Given the description of an element on the screen output the (x, y) to click on. 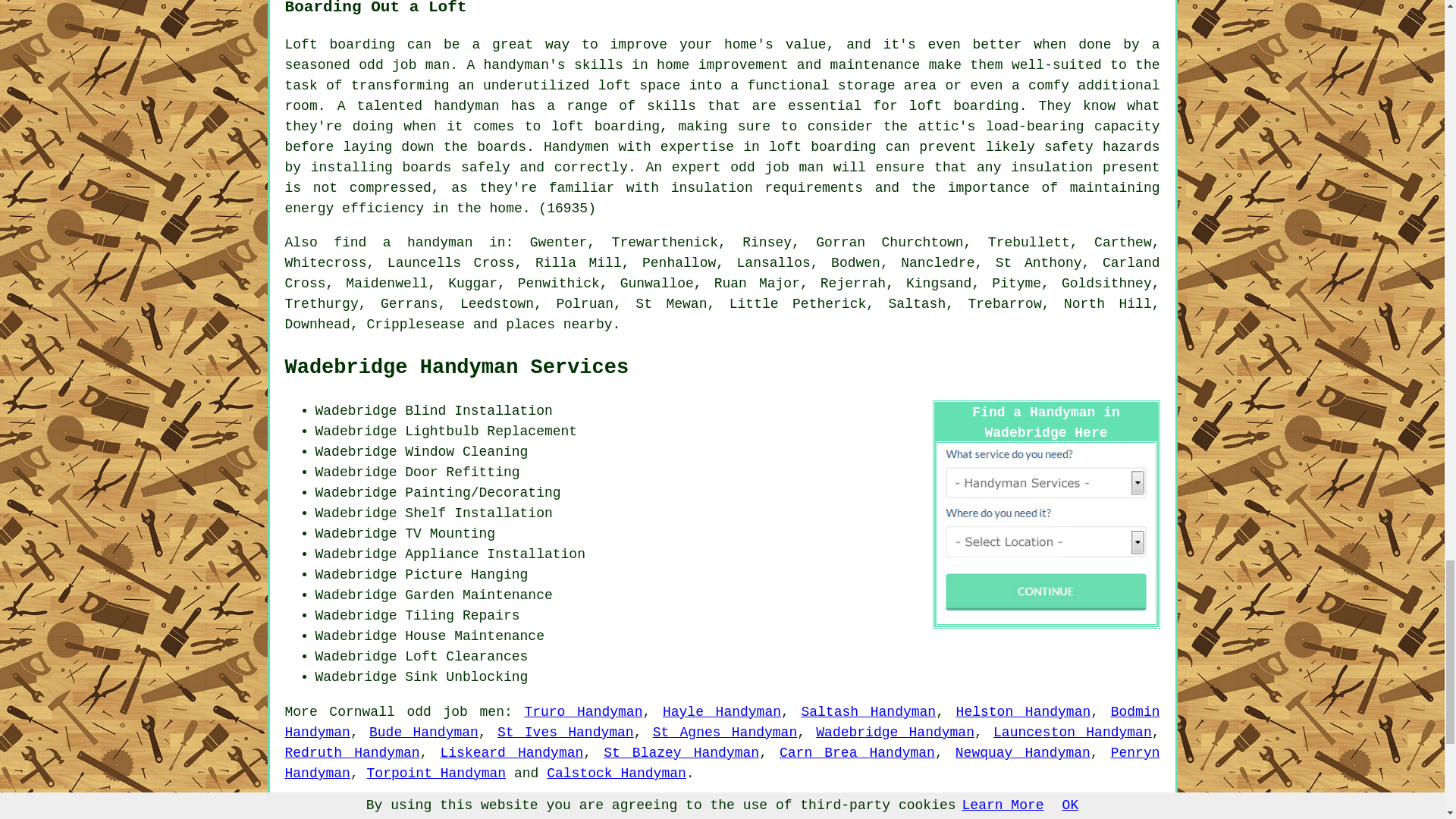
Helston Handyman (1023, 711)
Liskeard Handyman (511, 752)
Launceston Handyman (1071, 732)
Hayle Handyman (721, 711)
Penryn Handyman (722, 763)
Redruth Handyman (352, 752)
Wadebridge Handyman (894, 732)
Bude Handyman (424, 732)
St Blazey Handyman (681, 752)
Truro Handyman (583, 711)
